Given the description of an element on the screen output the (x, y) to click on. 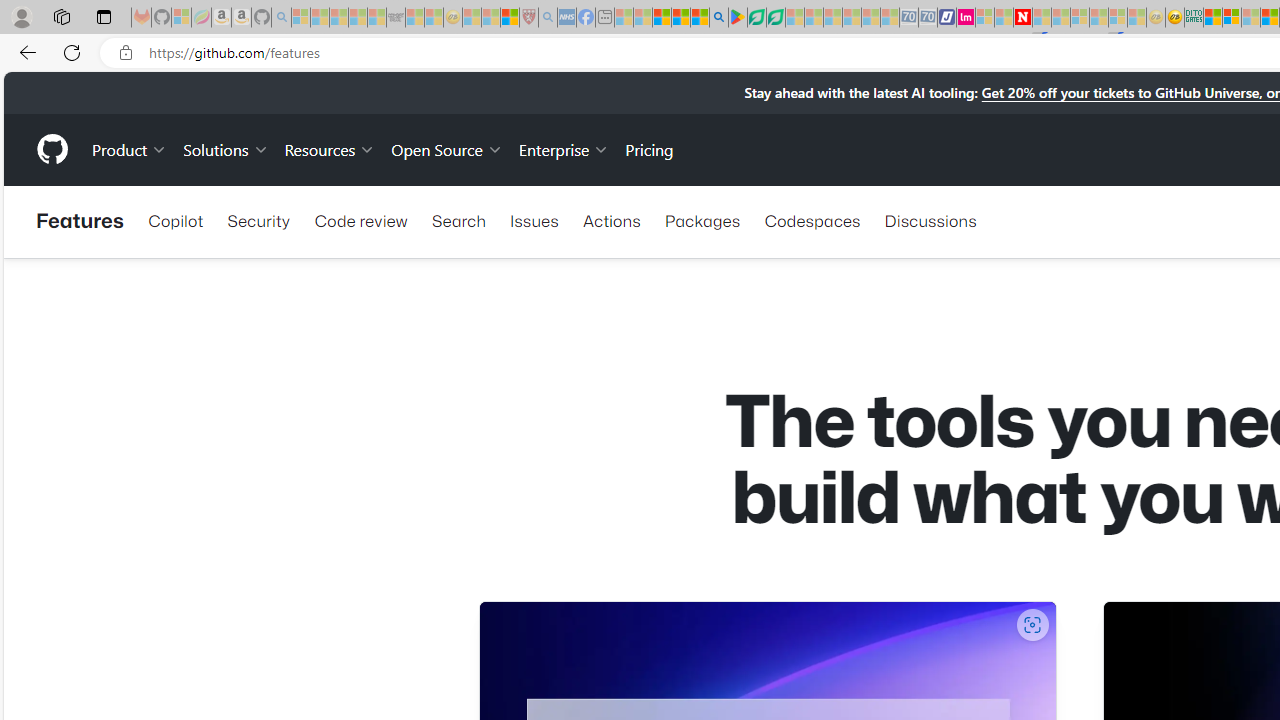
Jobs - lastminute.com Investor Portal (966, 17)
Solutions (225, 148)
Local - MSN (509, 17)
Pricing (649, 148)
Issues (534, 220)
